Given the description of an element on the screen output the (x, y) to click on. 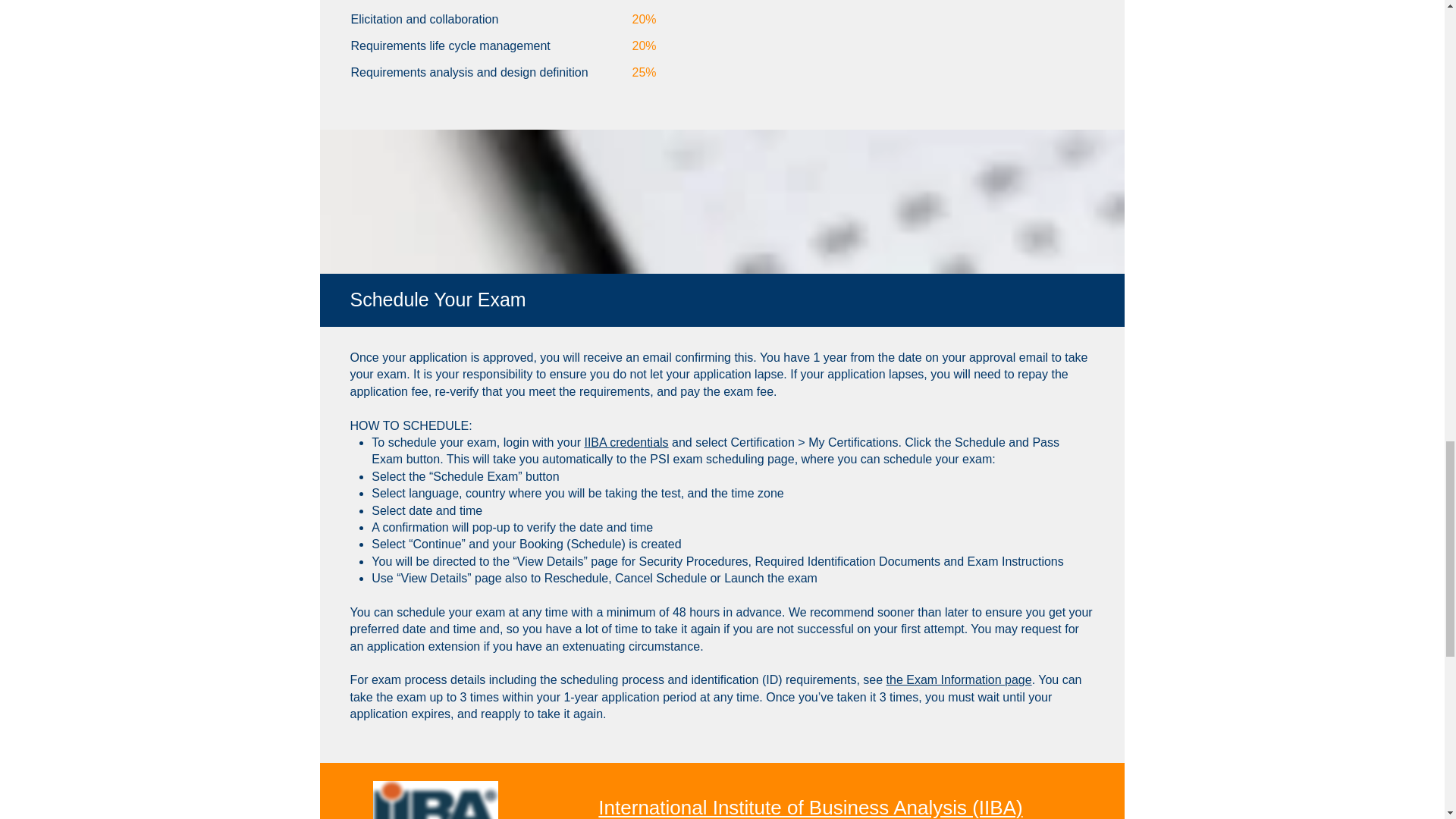
IIBA credentials (625, 441)
the Exam Information page (959, 679)
